Given the description of an element on the screen output the (x, y) to click on. 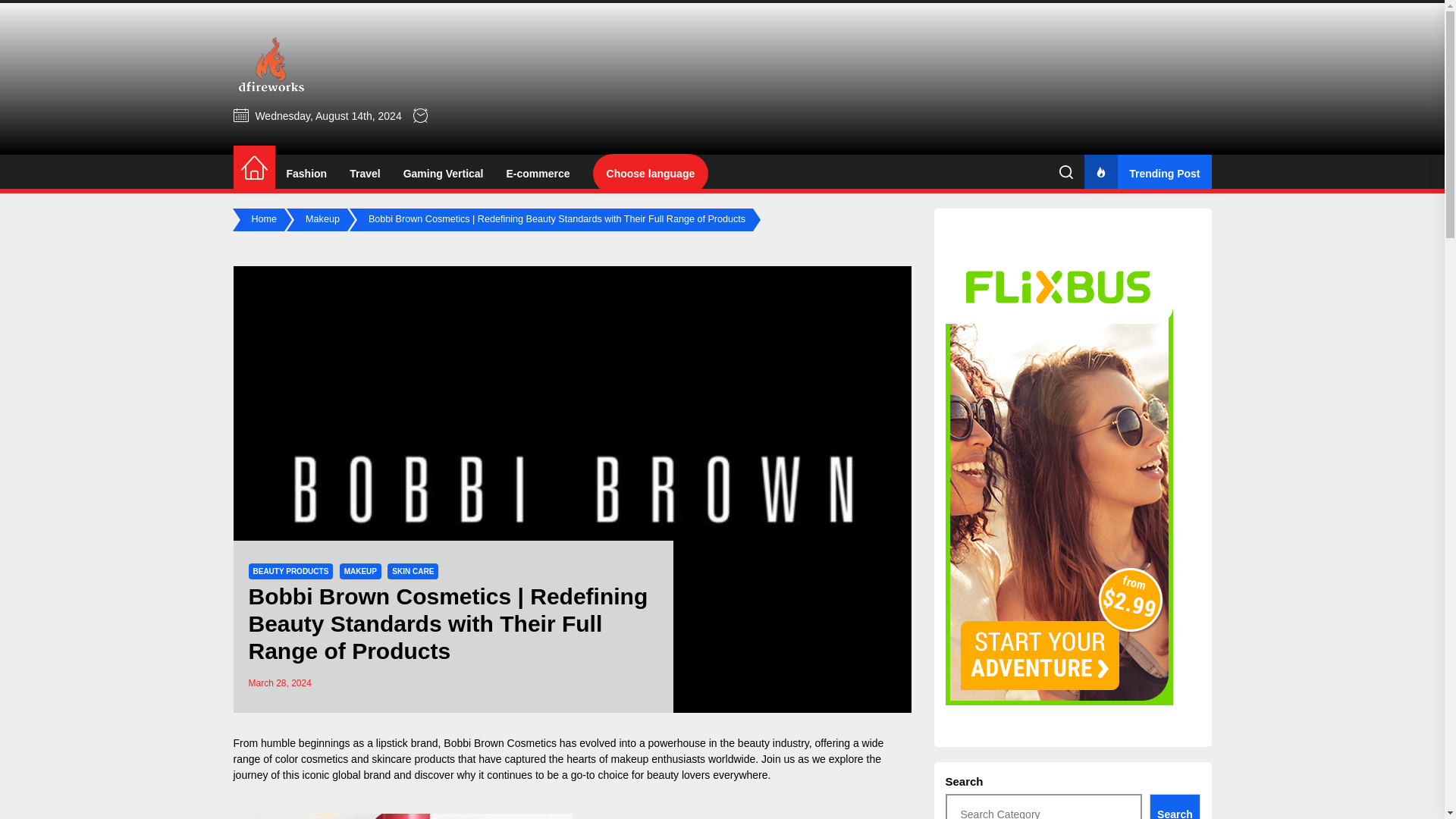
Makeup (324, 219)
MAKEUP (360, 571)
Travel (364, 173)
SKIN CARE (412, 571)
Gaming Vertical (443, 173)
BEAUTY PRODUCTS (290, 571)
E-commerce (537, 173)
Home (253, 168)
Home (265, 219)
Bobbi Brown Cosmetics (500, 743)
